Given the description of an element on the screen output the (x, y) to click on. 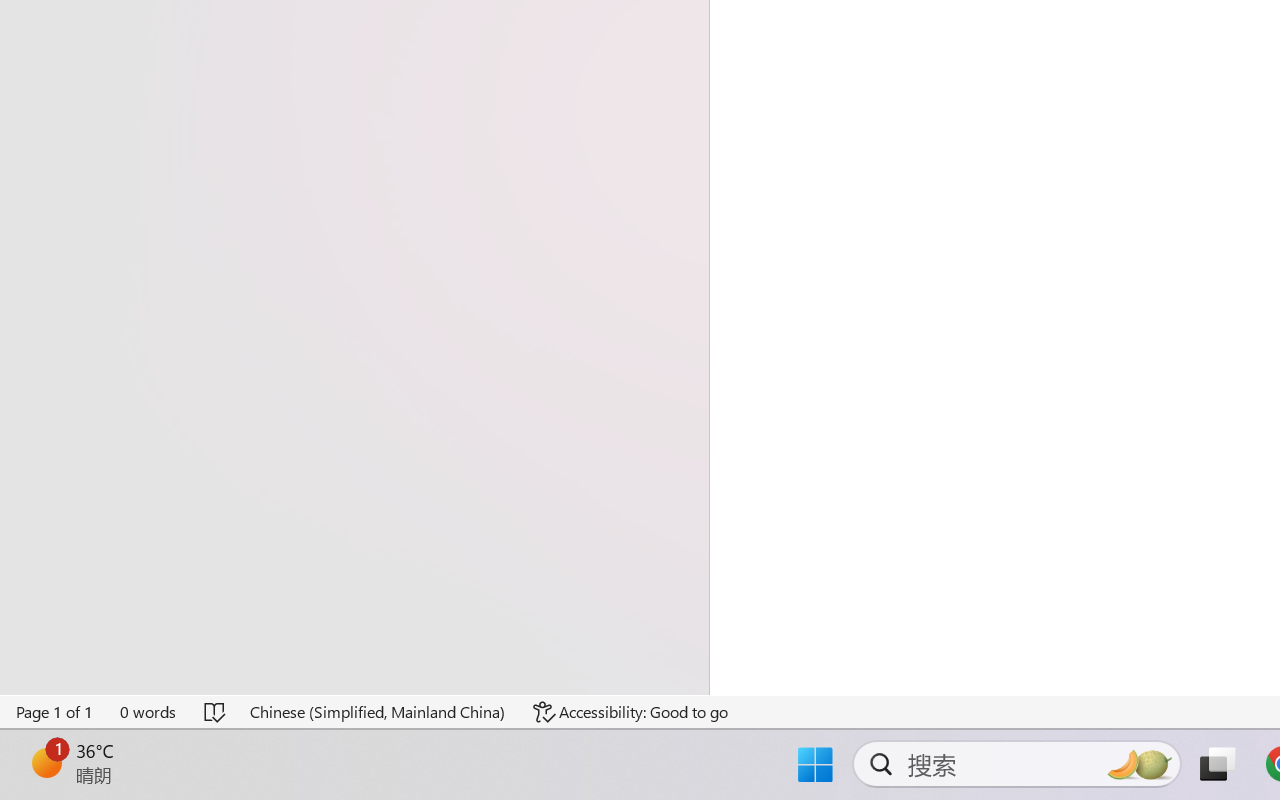
Language Chinese (Simplified, Mainland China) (378, 712)
